Given the description of an element on the screen output the (x, y) to click on. 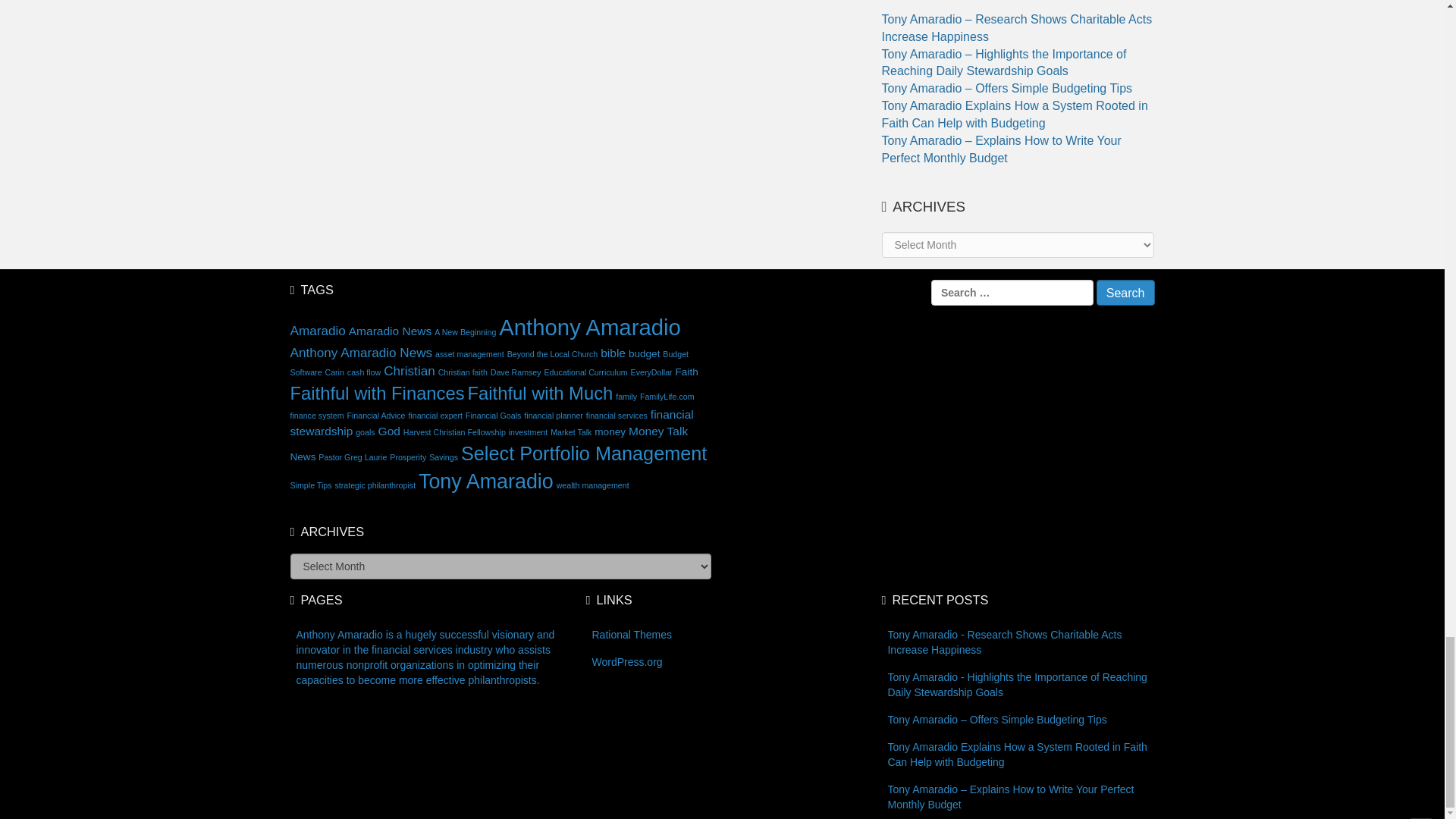
Search (1125, 292)
Search (1125, 292)
